Given the description of an element on the screen output the (x, y) to click on. 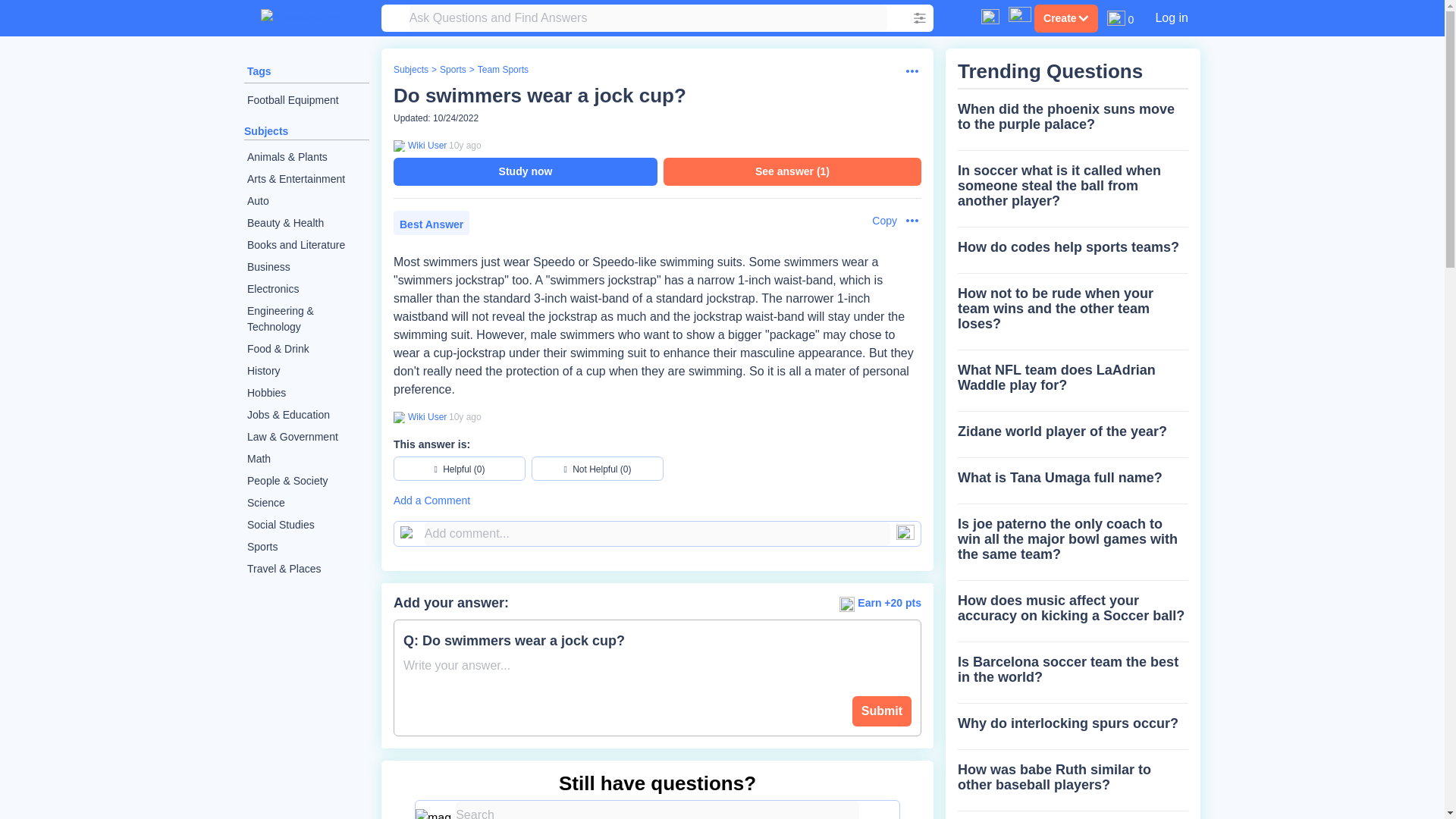
Subjects (266, 131)
Sports (452, 69)
Copy (876, 220)
Science (306, 503)
2014-05-10 23:24:55 (464, 416)
Wiki User (425, 417)
History (306, 371)
Do swimmers wear a jock cup? (539, 95)
Subjects (410, 69)
Tags (258, 70)
